Given the description of an element on the screen output the (x, y) to click on. 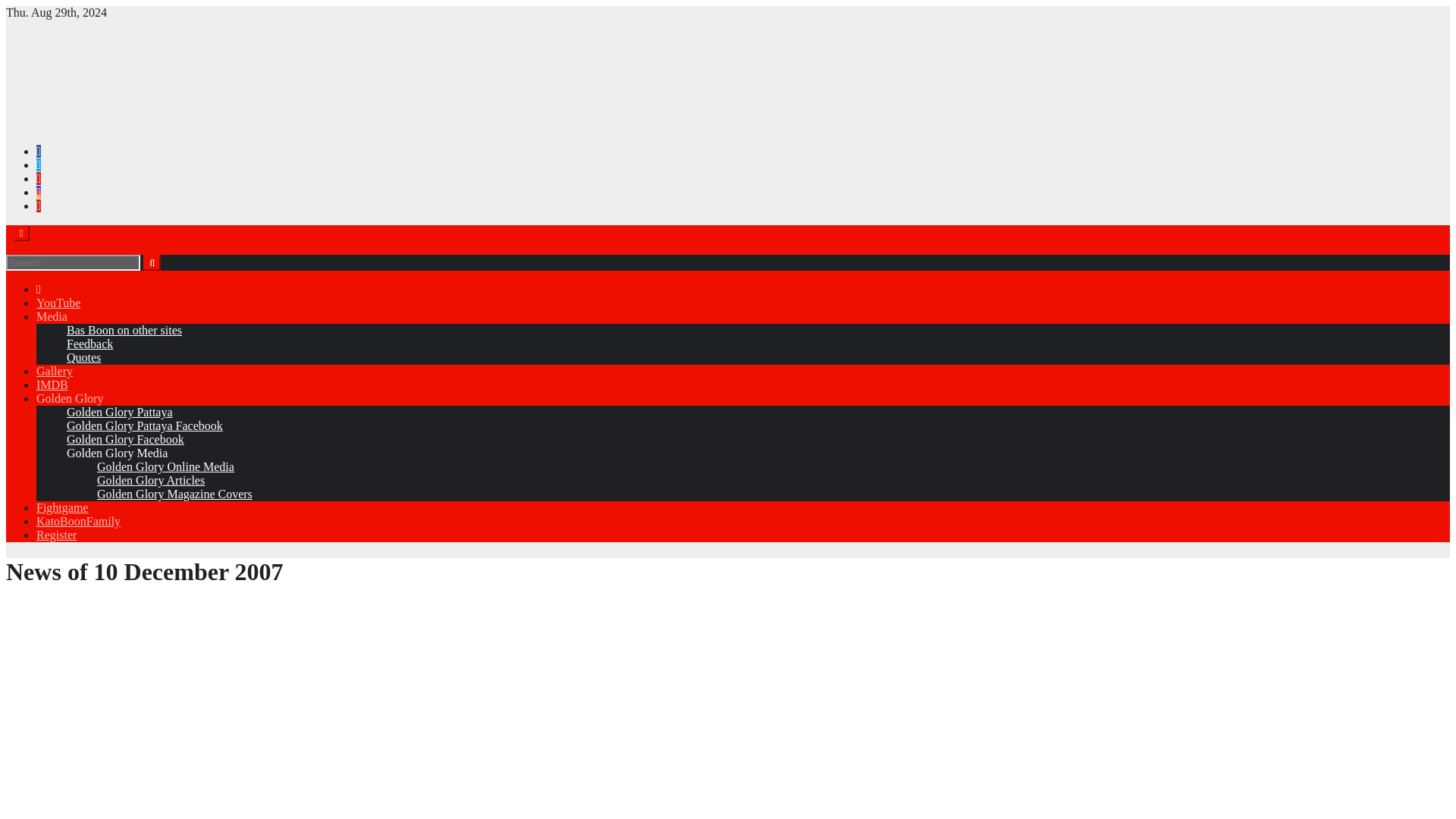
Golden Glory Articles (151, 480)
Feedback (89, 343)
Golden Glory Pattaya (119, 411)
Golden Glory Facebook (125, 439)
YouTube (58, 302)
Golden Glory (69, 398)
Feedback (89, 343)
YouTube (58, 302)
Gallery (54, 370)
Golden Glory Pattaya Facebook (144, 425)
